Given the description of an element on the screen output the (x, y) to click on. 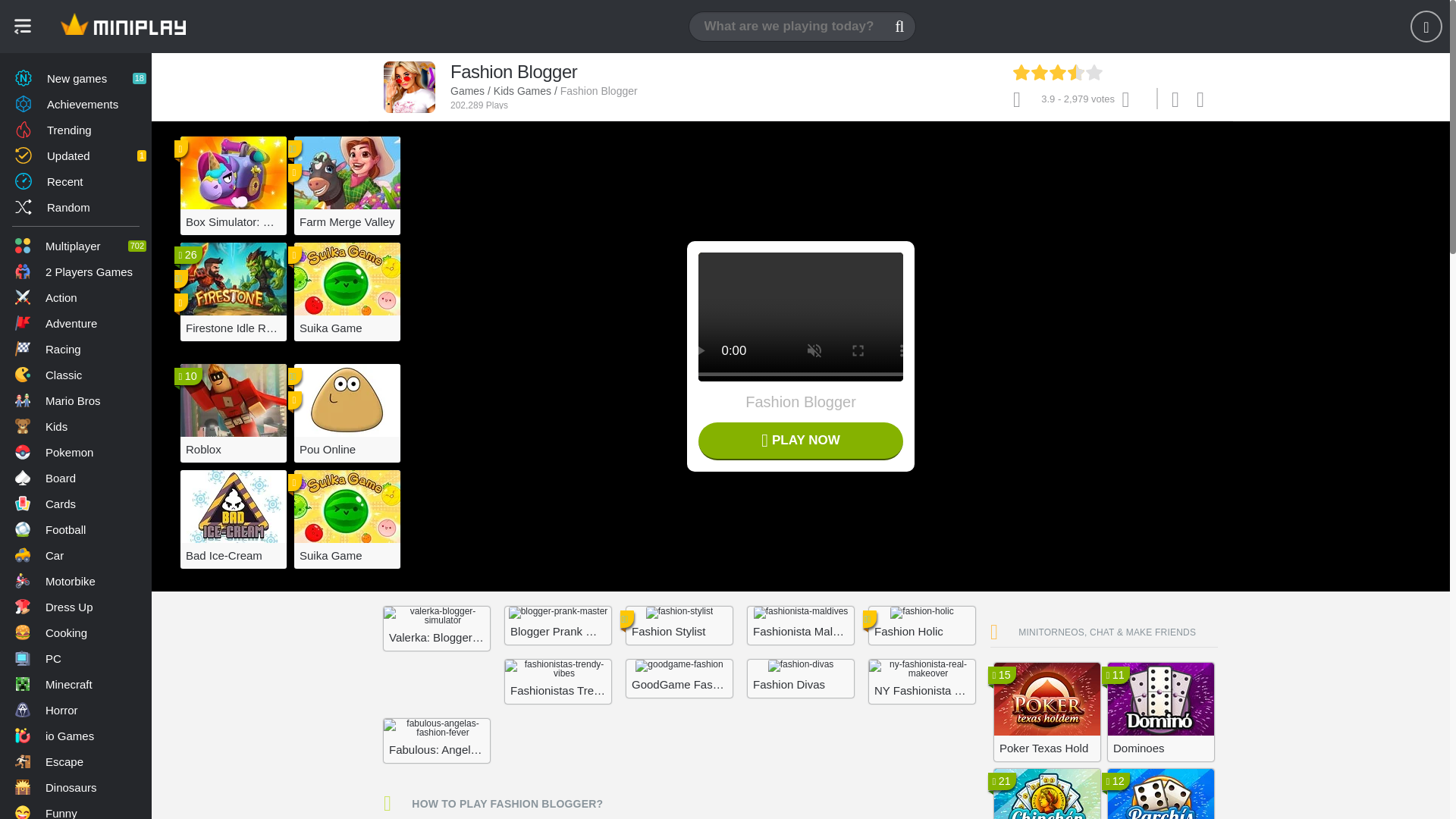
Motorbike (75, 580)
Cooking (75, 632)
Updated (75, 155)
Adventure Games (75, 322)
Recent (75, 181)
Random (75, 207)
Trending (75, 129)
Multiplayer Games (75, 245)
Trending (75, 129)
2 Players Games (75, 271)
Adventure (75, 322)
Football (75, 529)
PC (75, 657)
Cards (75, 503)
Achievements (75, 103)
